Given the description of an element on the screen output the (x, y) to click on. 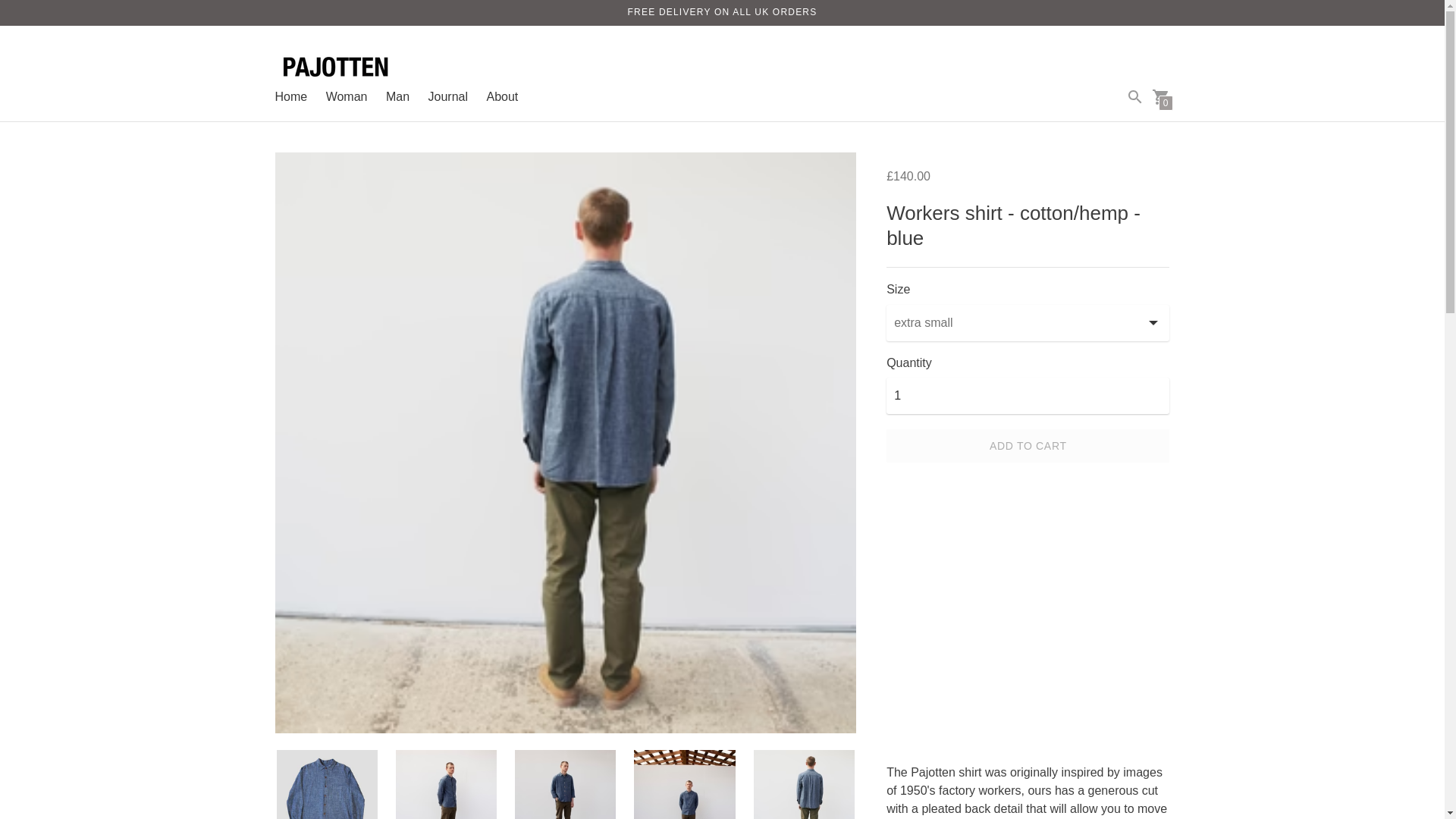
Man (397, 96)
FREE DELIVERY ON ALL UK ORDERS (721, 11)
Home (291, 96)
About (502, 96)
Journal (447, 96)
1 (1027, 395)
Woman (347, 96)
